Given the description of an element on the screen output the (x, y) to click on. 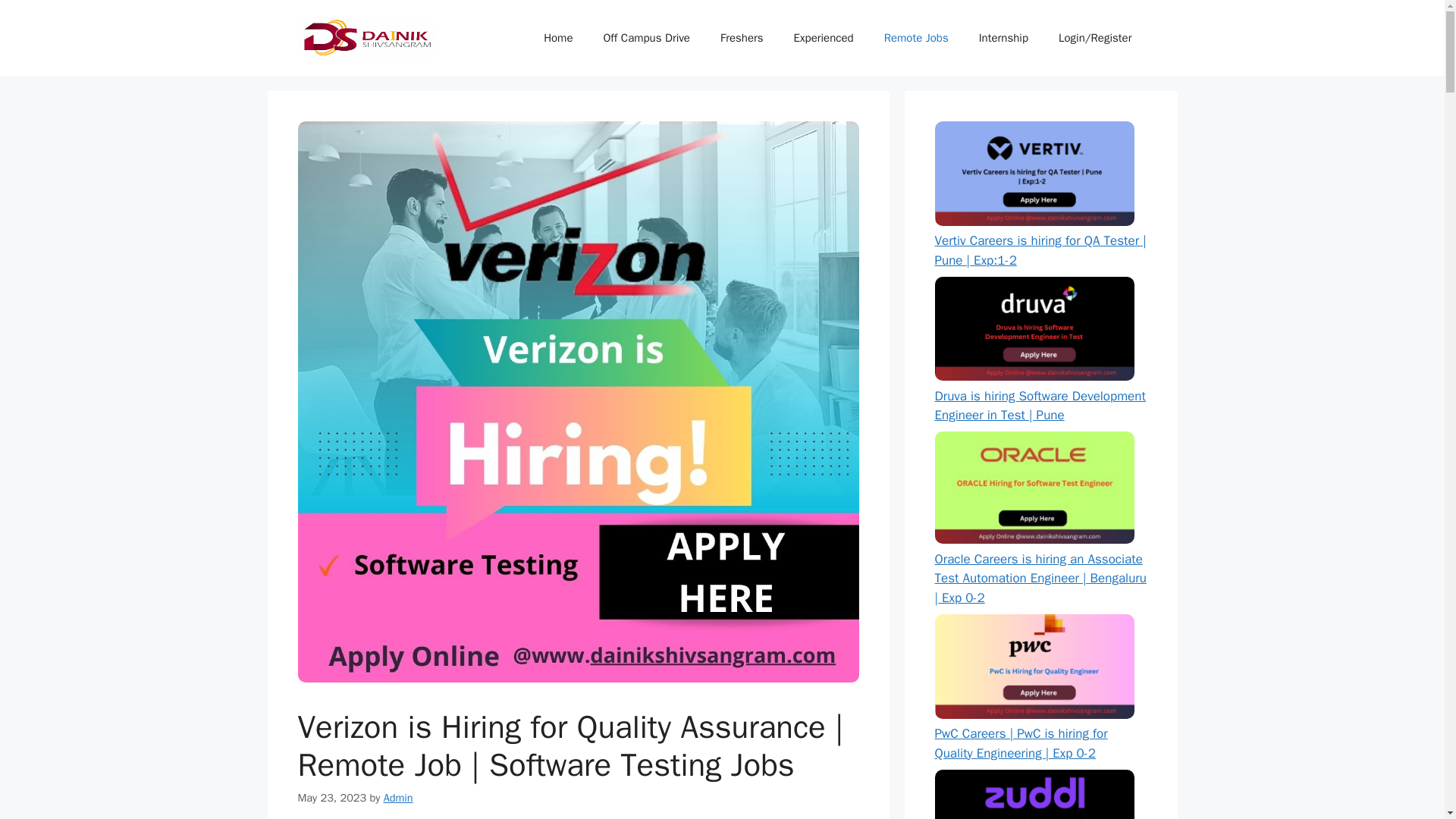
Experienced (823, 37)
Admin (398, 797)
Remote Jobs (916, 37)
View all posts by Admin (398, 797)
Freshers (741, 37)
Internship (1003, 37)
Off Campus Drive (646, 37)
Home (558, 37)
